Given the description of an element on the screen output the (x, y) to click on. 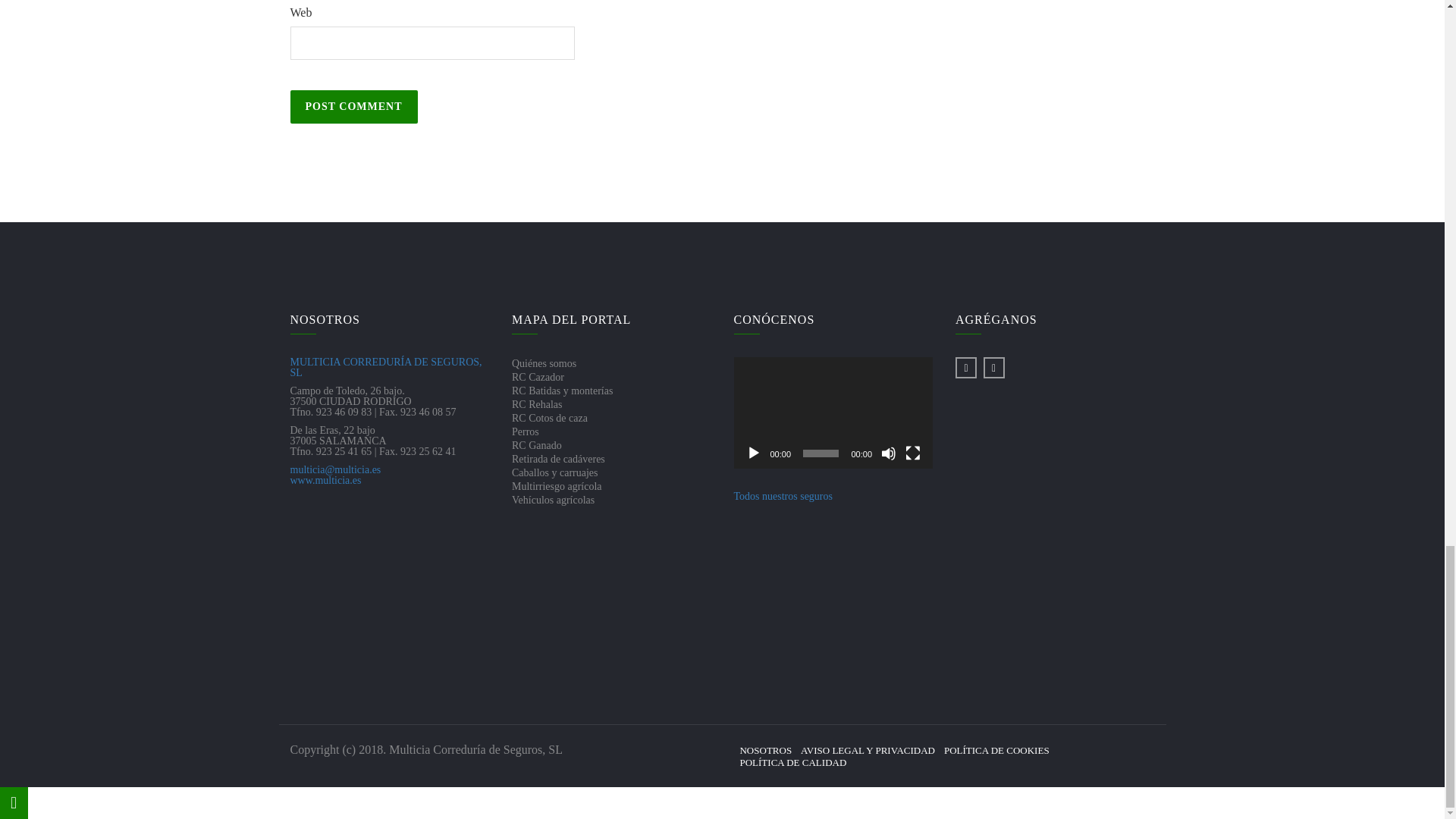
Pantalla completa (912, 453)
Silenciar (888, 453)
Back to Top (13, 802)
Post Comment (352, 106)
Reproducir (753, 453)
Post Comment (352, 106)
